Given the description of an element on the screen output the (x, y) to click on. 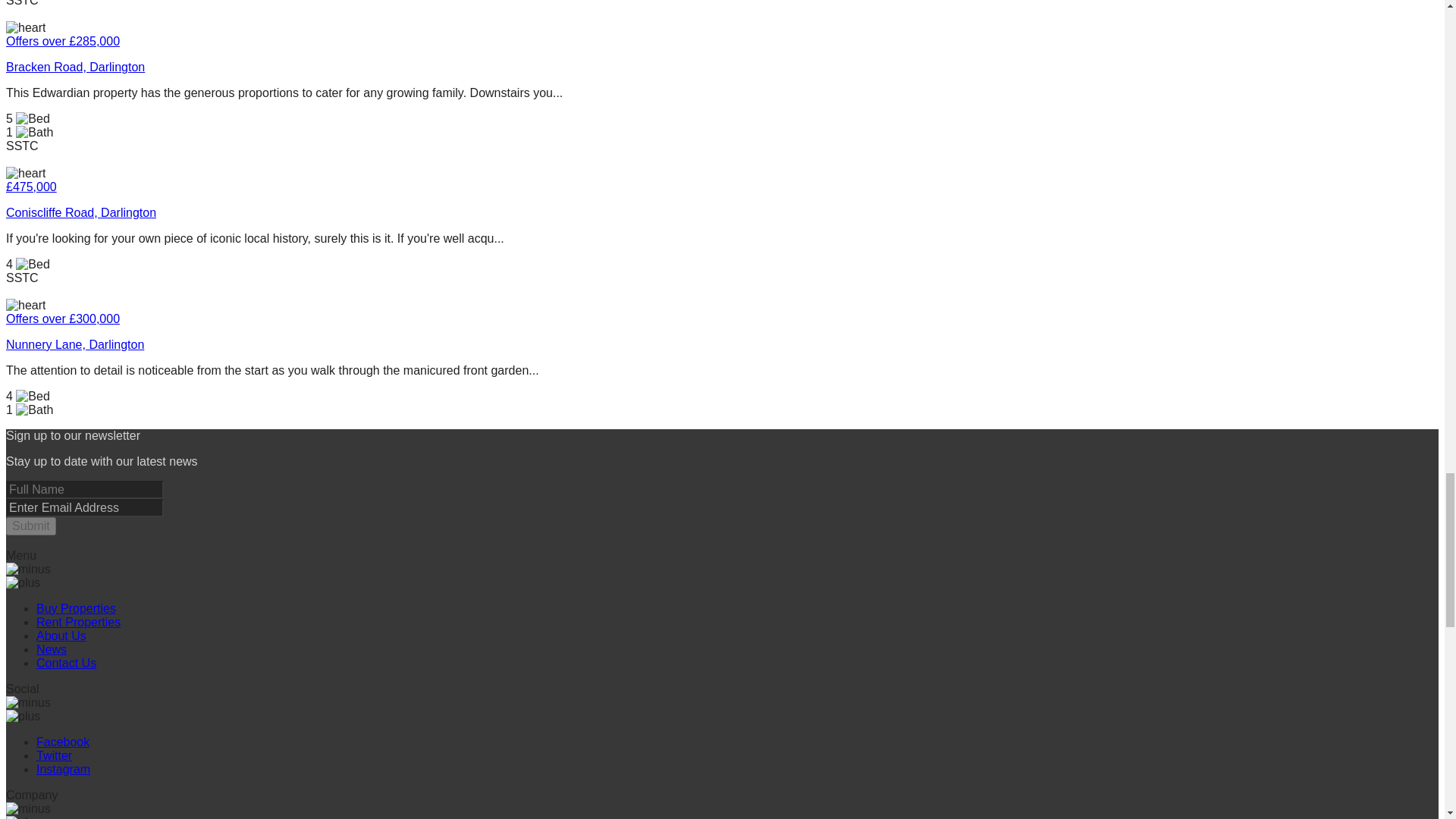
Save (25, 173)
Save (25, 28)
Bracken Road, Darlington (551, 67)
